Given the description of an element on the screen output the (x, y) to click on. 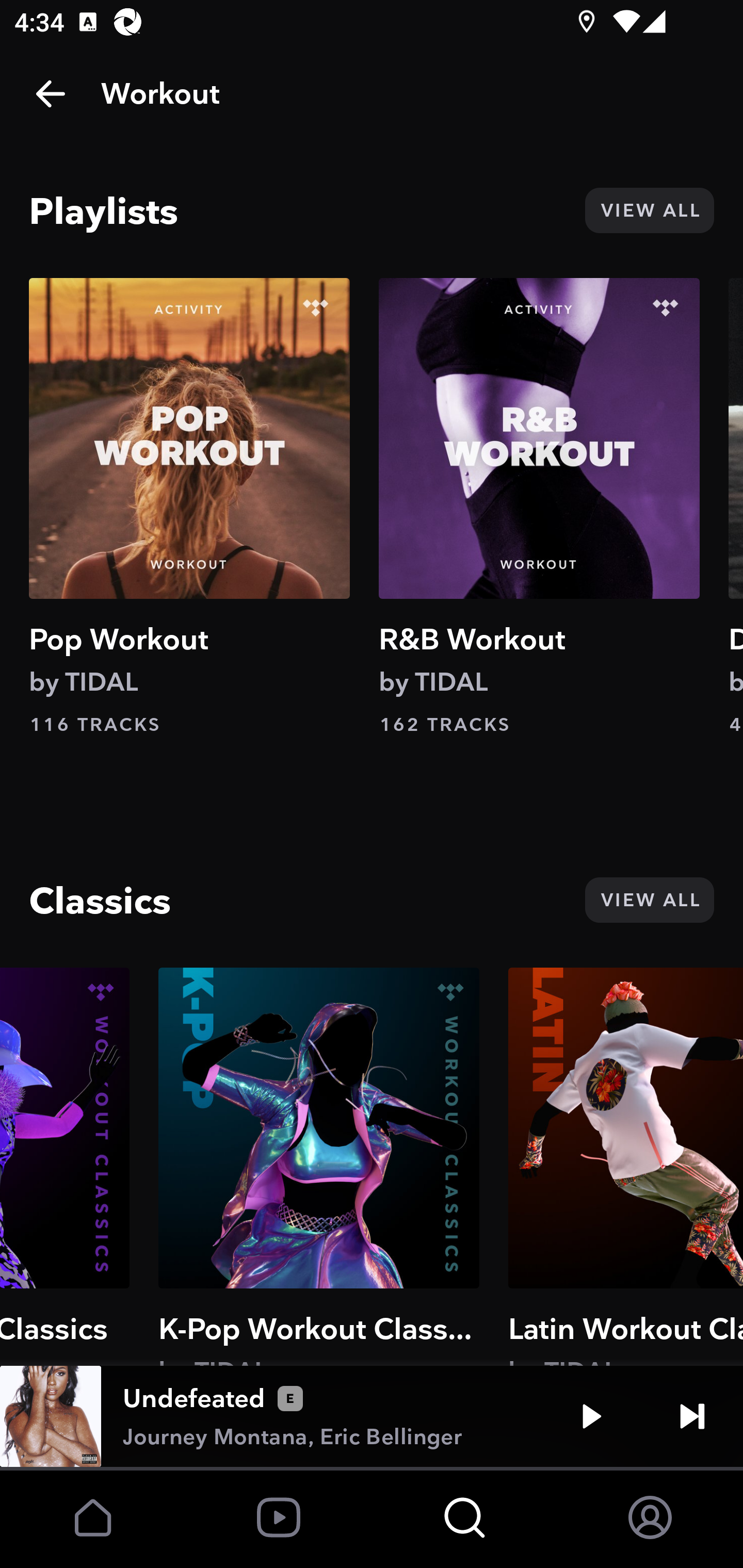
VIEW ALL (649, 210)
Pop Workout by TIDAL 116 TRACKS (188, 506)
R&B Workout by TIDAL 162 TRACKS (538, 506)
VIEW ALL (649, 899)
K-Pop Workout Classics by TIDAL (318, 1166)
Latin Workout Classics by TIDAL (625, 1166)
Undefeated    Journey Montana, Eric Bellinger Play (371, 1416)
Play (590, 1416)
